Given the description of an element on the screen output the (x, y) to click on. 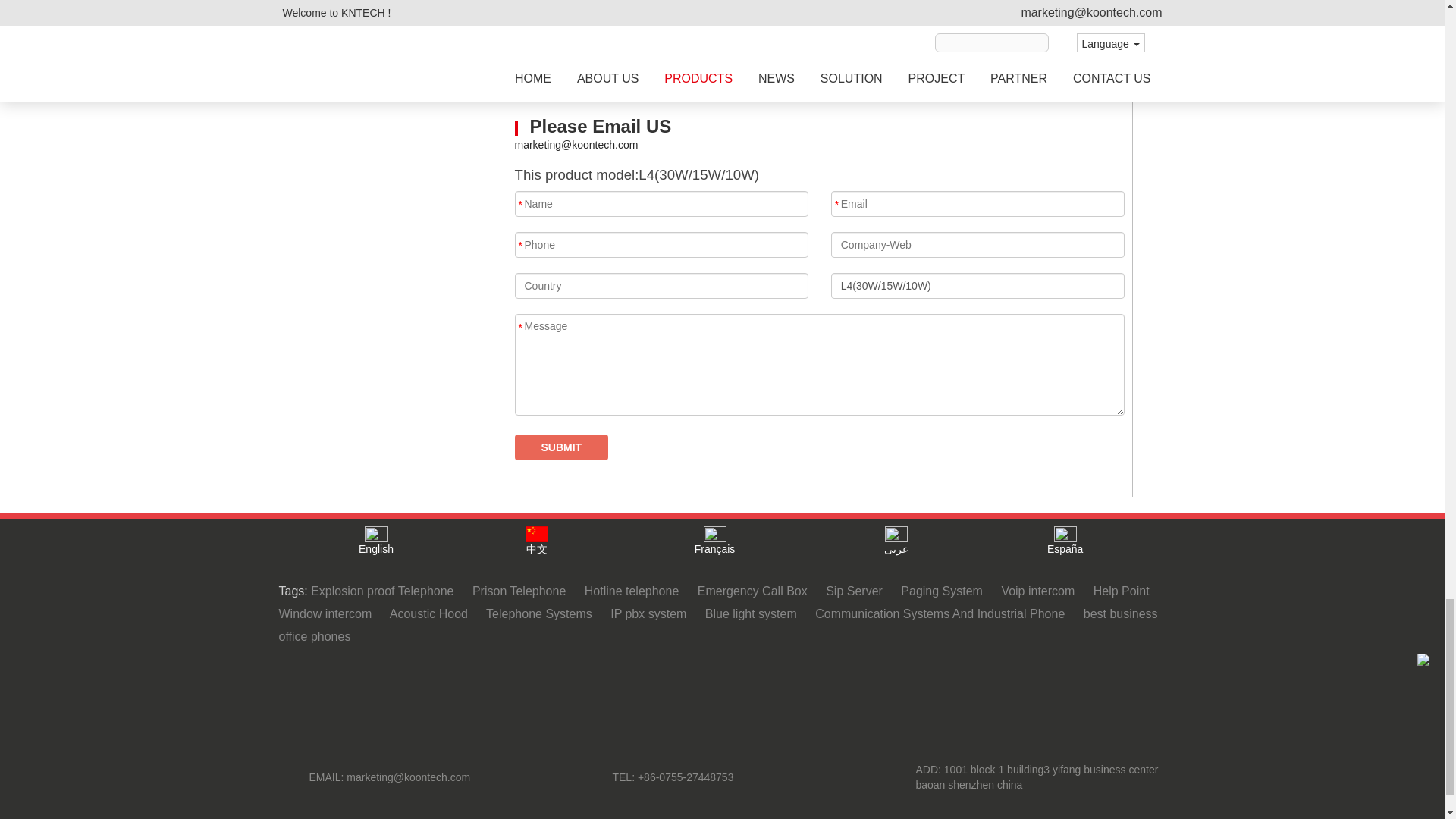
youtube (629, 684)
Twitter (768, 684)
Linkedin (814, 684)
Facebook (676, 684)
SUBMIT (560, 447)
